Given the description of an element on the screen output the (x, y) to click on. 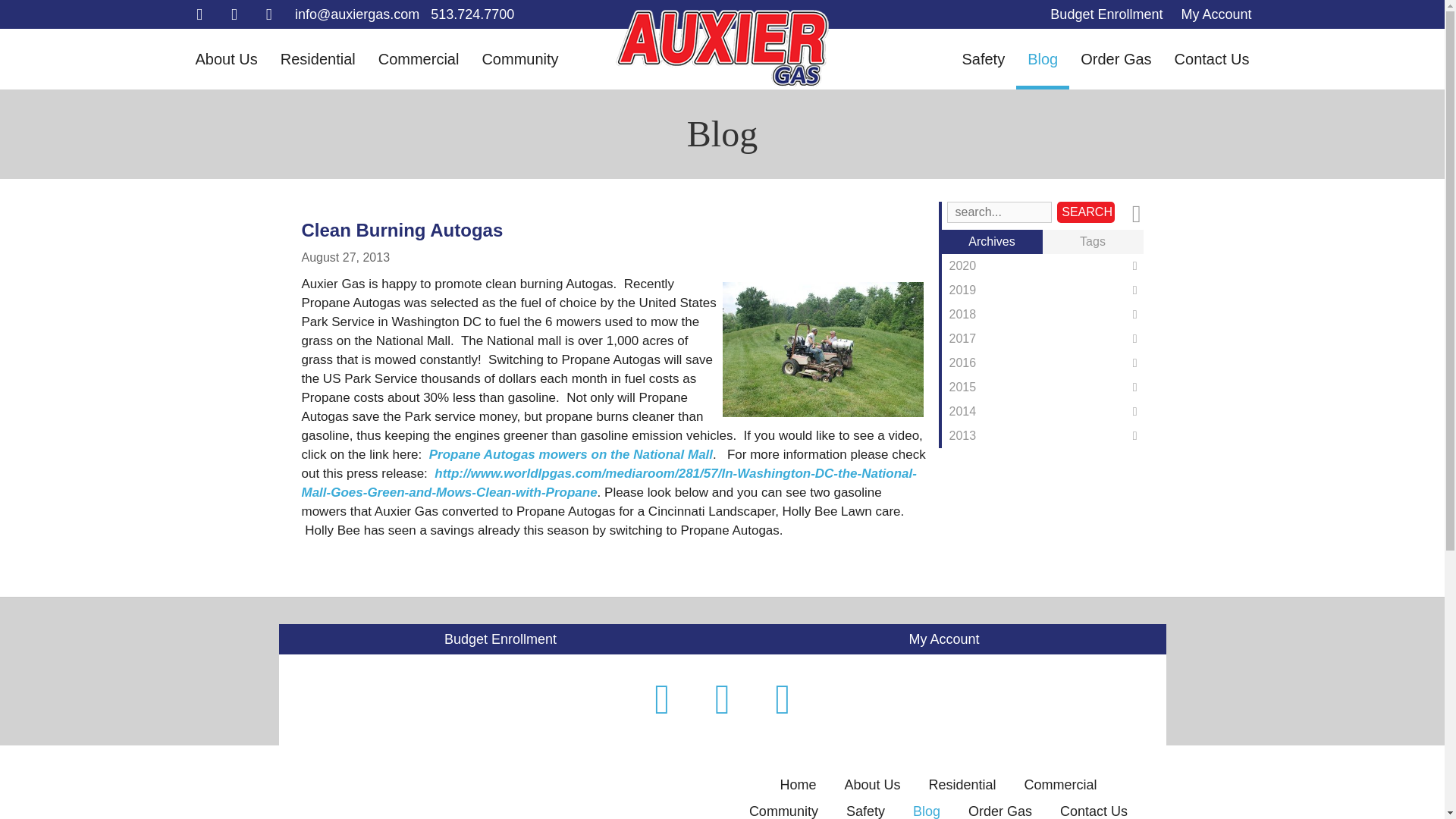
visit our Pinterest page (268, 14)
visit our twitter page (233, 14)
Search (1085, 211)
Budget Enrollment (1106, 14)
Search (1085, 211)
Archives (992, 241)
Contact Us (1211, 58)
513.724.7700 (471, 14)
visit our facebook page (198, 14)
visit our twitter page (721, 699)
My Account (1216, 14)
2019 (1042, 290)
Safety (983, 58)
2020 (1042, 265)
2018 (1042, 314)
